Given the description of an element on the screen output the (x, y) to click on. 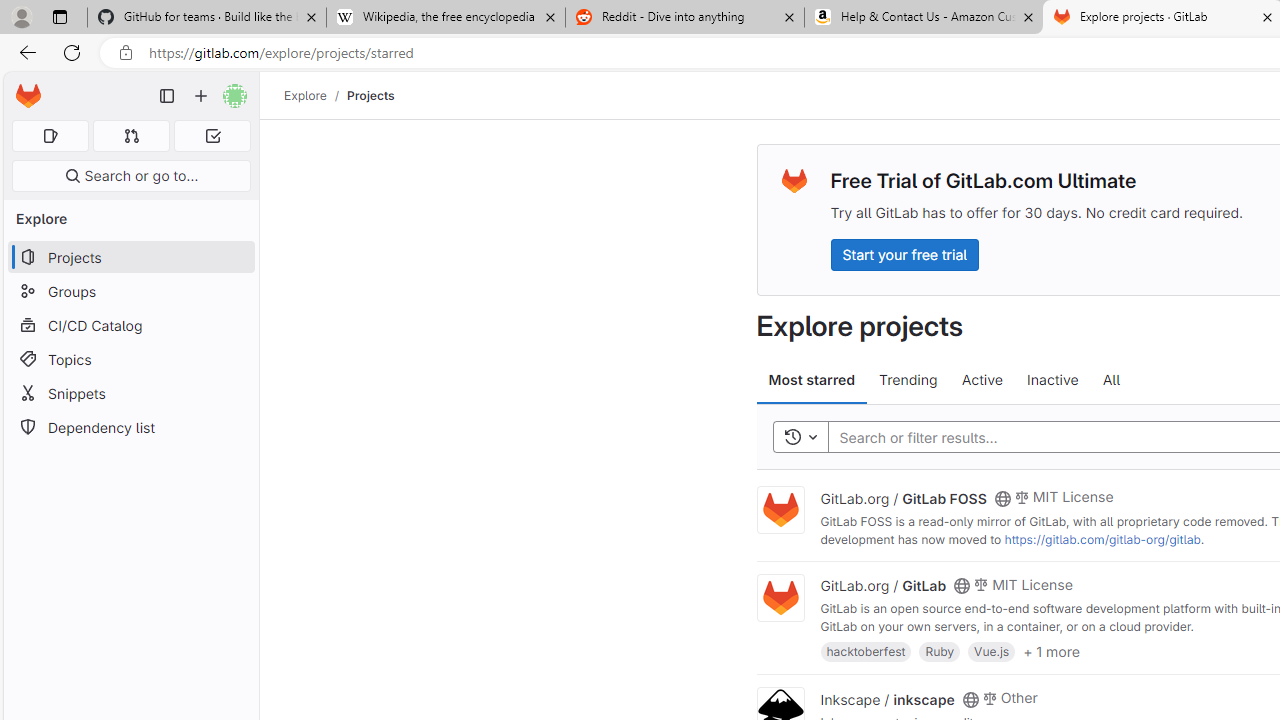
Active (982, 379)
Class: s16 (970, 699)
Groups (130, 291)
